Given the description of an element on the screen output the (x, y) to click on. 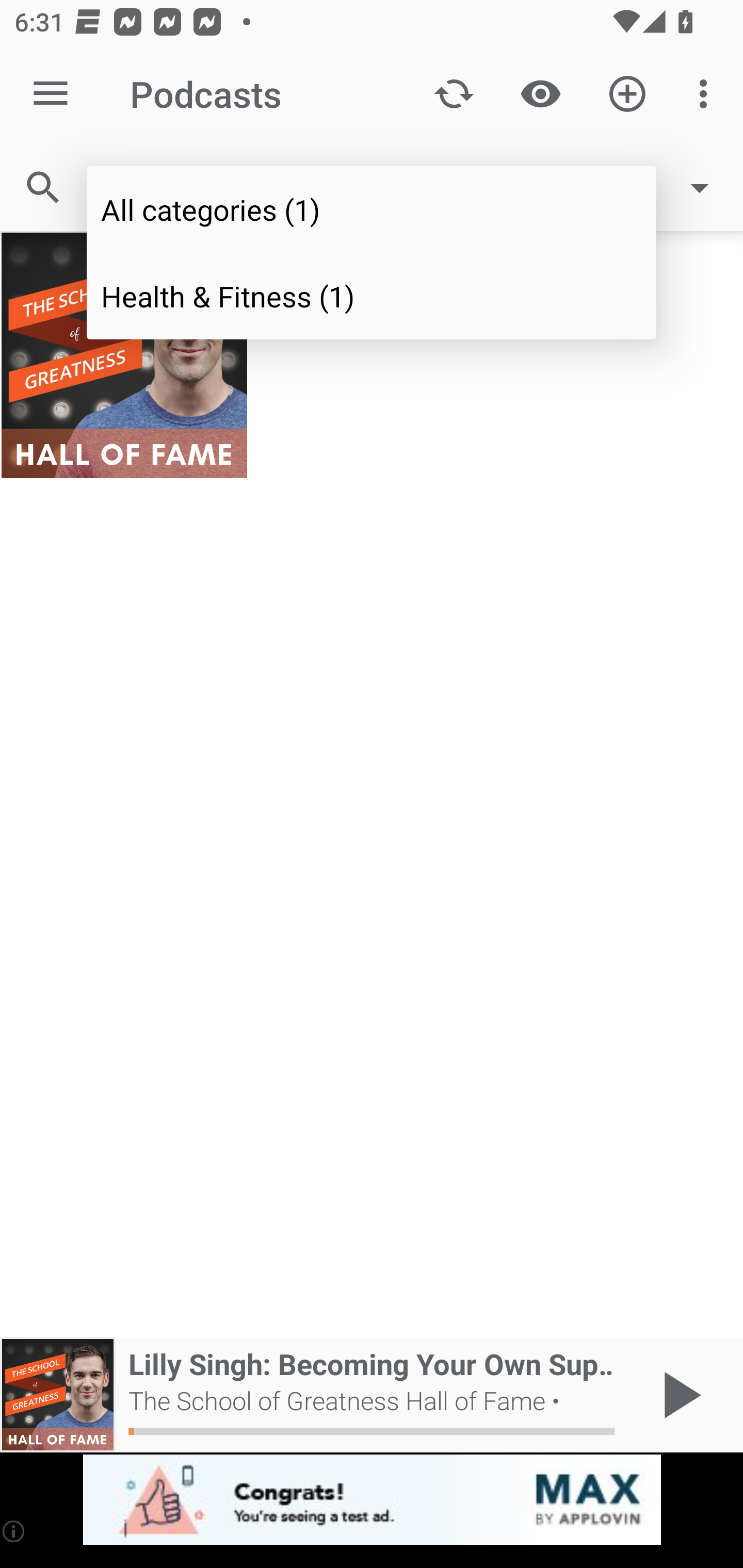
All categories (1) (371, 209)
Health & Fitness (1) (371, 295)
